Given the description of an element on the screen output the (x, y) to click on. 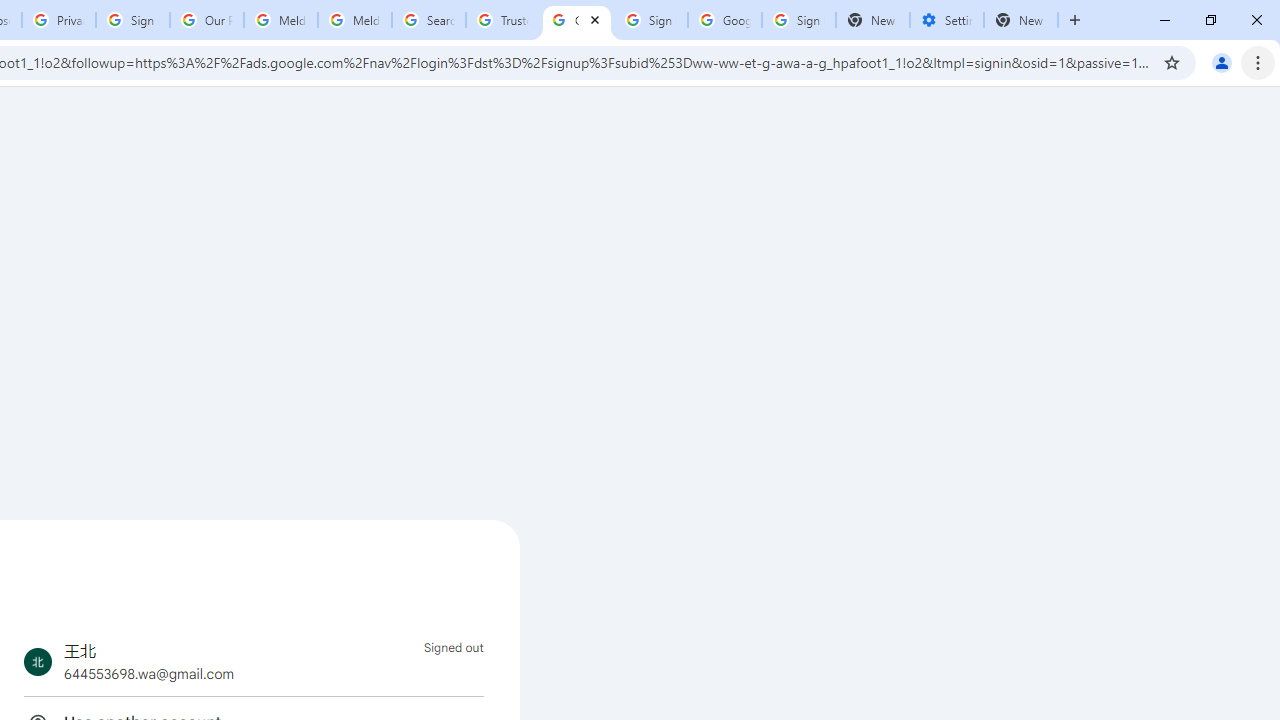
New Tab (1021, 20)
Google Cybersecurity Innovations - Google Safety Center (724, 20)
Minimize (1165, 20)
You (1221, 62)
Sign in - Google Accounts (133, 20)
Sign in - Google Accounts (651, 20)
New Tab (1075, 20)
Chrome (1260, 62)
Sign in - Google Accounts (798, 20)
Google Ads - Sign in (577, 20)
Bookmark this tab (1171, 62)
